Given the description of an element on the screen output the (x, y) to click on. 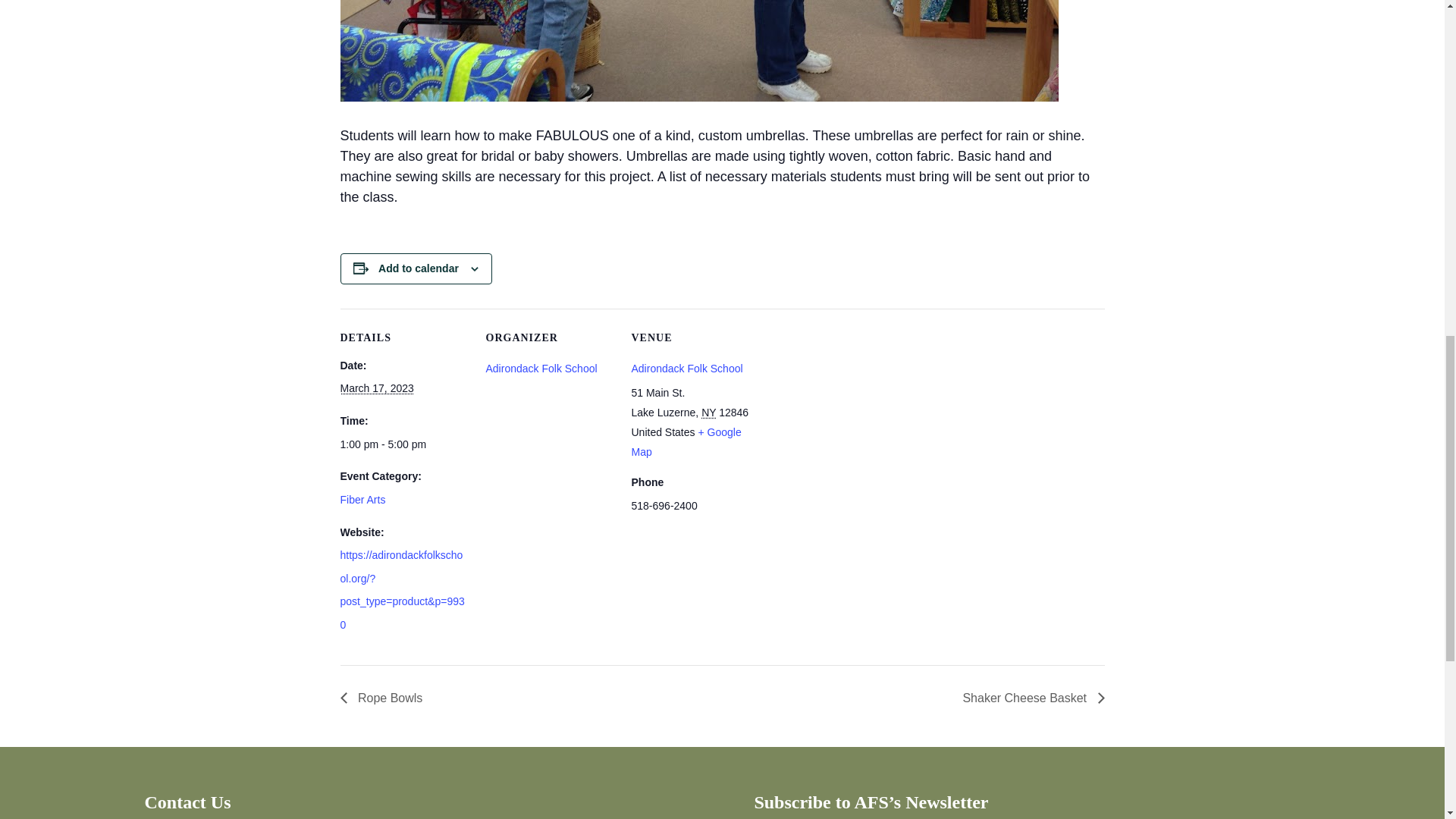
2023-03-17 (376, 387)
Click to view a Google Map (685, 441)
Adirondack Folk School (540, 368)
New York (708, 412)
2023-03-17 (403, 444)
